Given the description of an element on the screen output the (x, y) to click on. 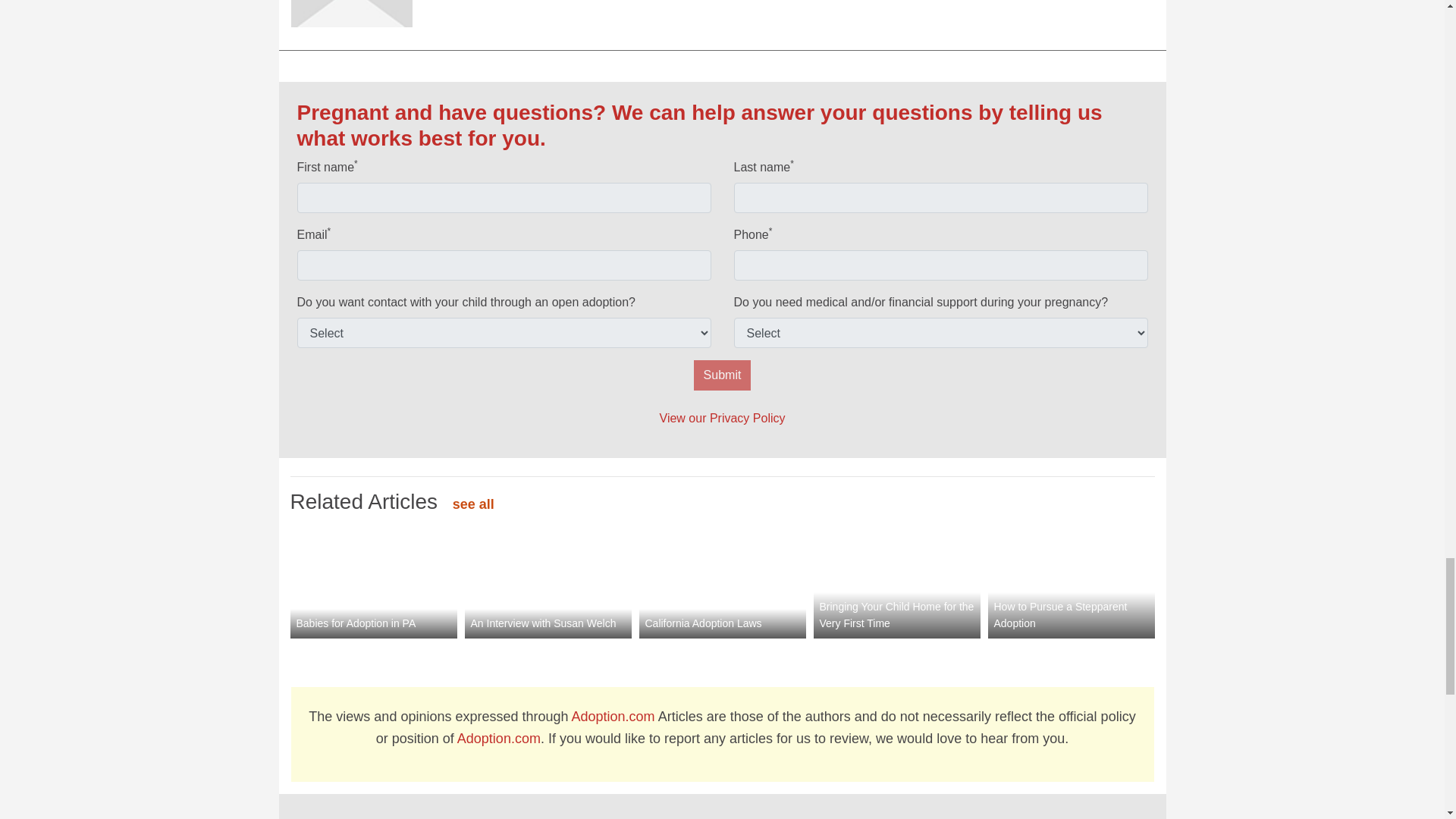
Bringing Your Child Home for the Very First Time (895, 579)
Babies for Adoption in PA (373, 579)
How to Pursue a Stepparent Adoption (1070, 579)
California Adoption Laws (722, 579)
An Interview with Susan Welch (547, 579)
